Given the description of an element on the screen output the (x, y) to click on. 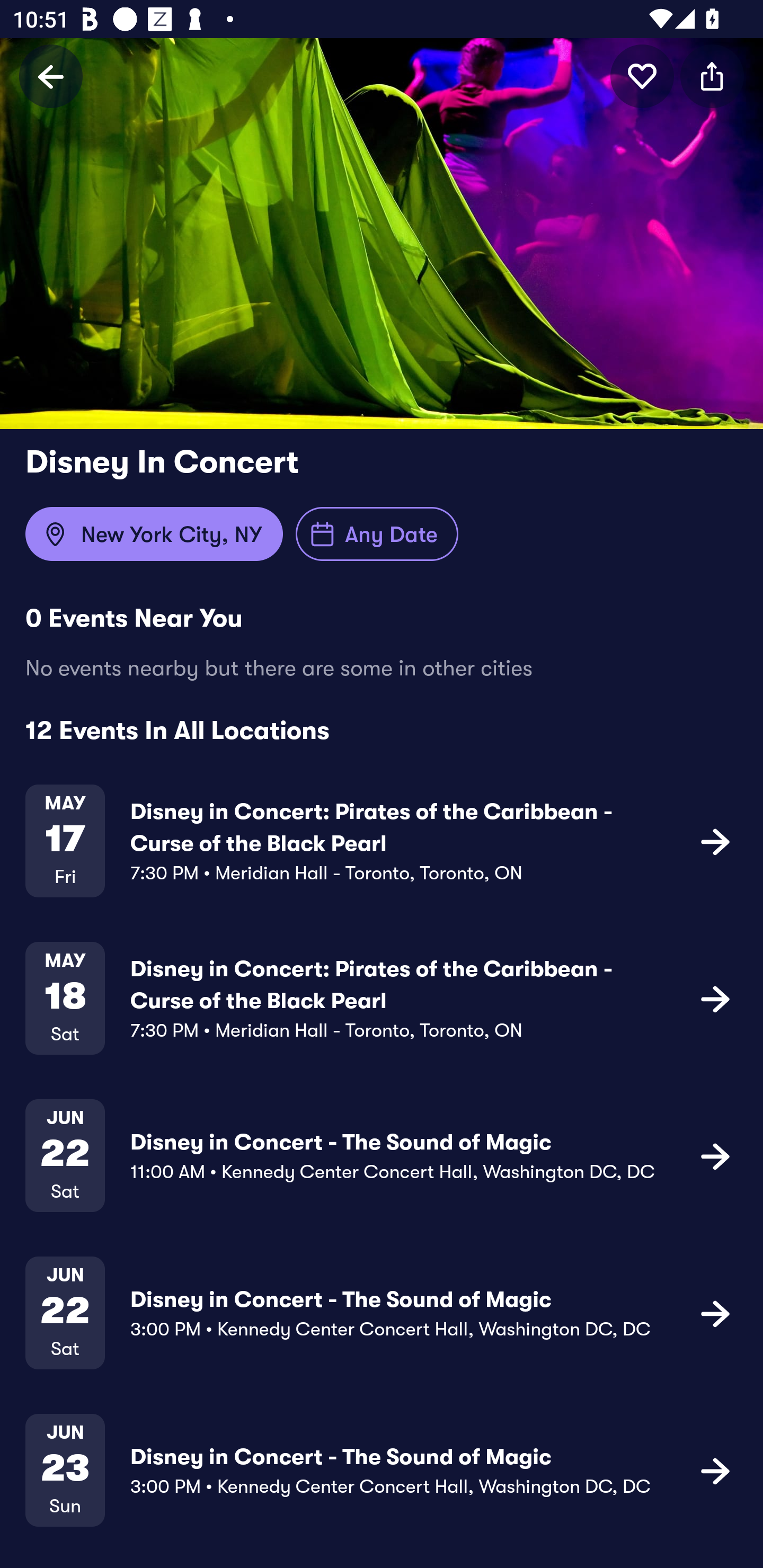
Back (50, 75)
icon button (641, 75)
icon button (711, 75)
New York City, NY (153, 533)
Any Date (377, 533)
icon button (714, 840)
icon button (714, 998)
icon button (714, 1155)
icon button (714, 1312)
icon button (714, 1470)
